Given the description of an element on the screen output the (x, y) to click on. 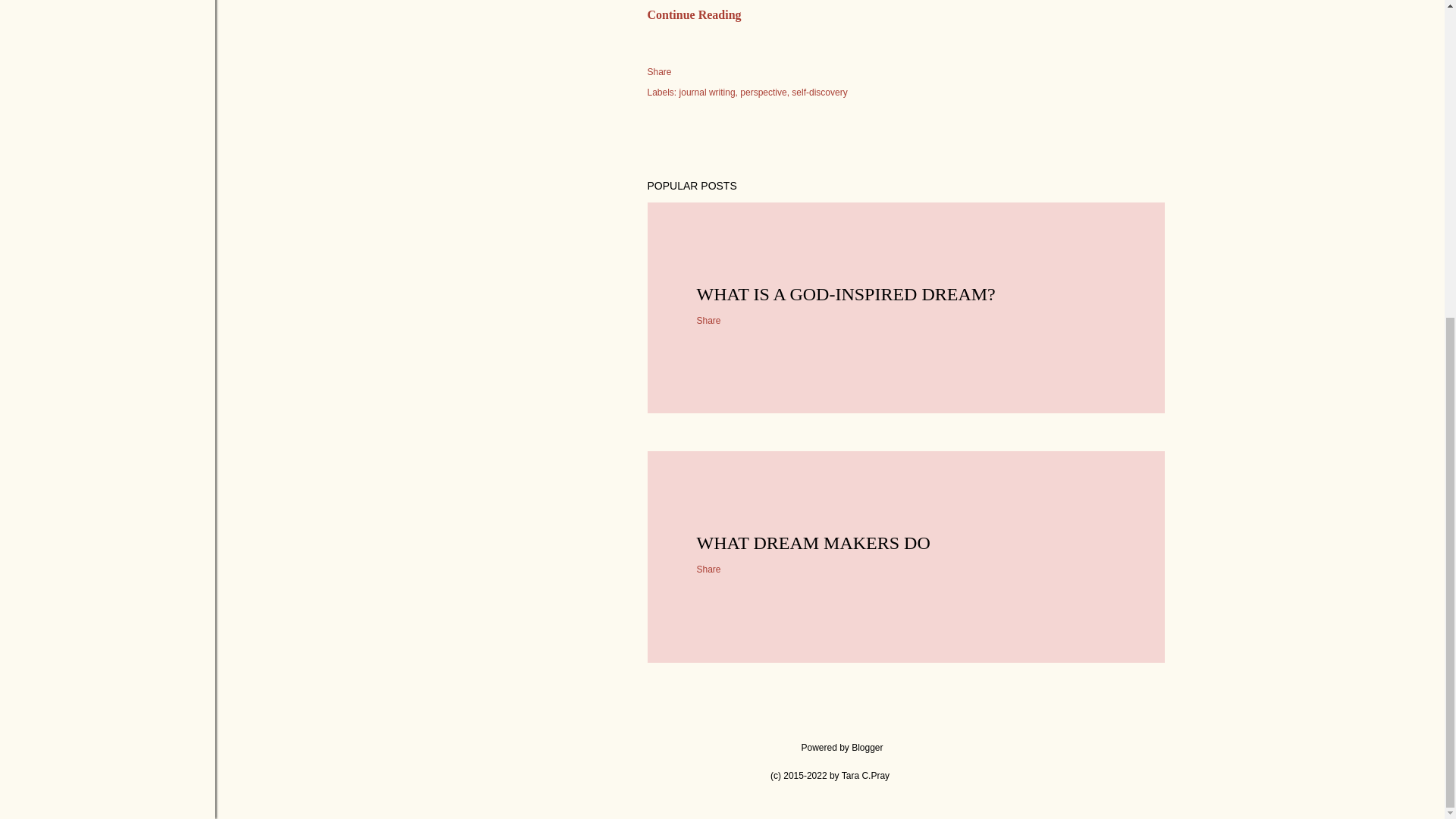
WHAT IS A GOD-INSPIRED DREAM? (844, 293)
self-discovery (819, 91)
Share (707, 320)
Share (659, 71)
perspective (764, 91)
journal writing (708, 91)
WHAT DREAM MAKERS DO (812, 542)
Continue Reading (694, 14)
Share (707, 569)
